Given the description of an element on the screen output the (x, y) to click on. 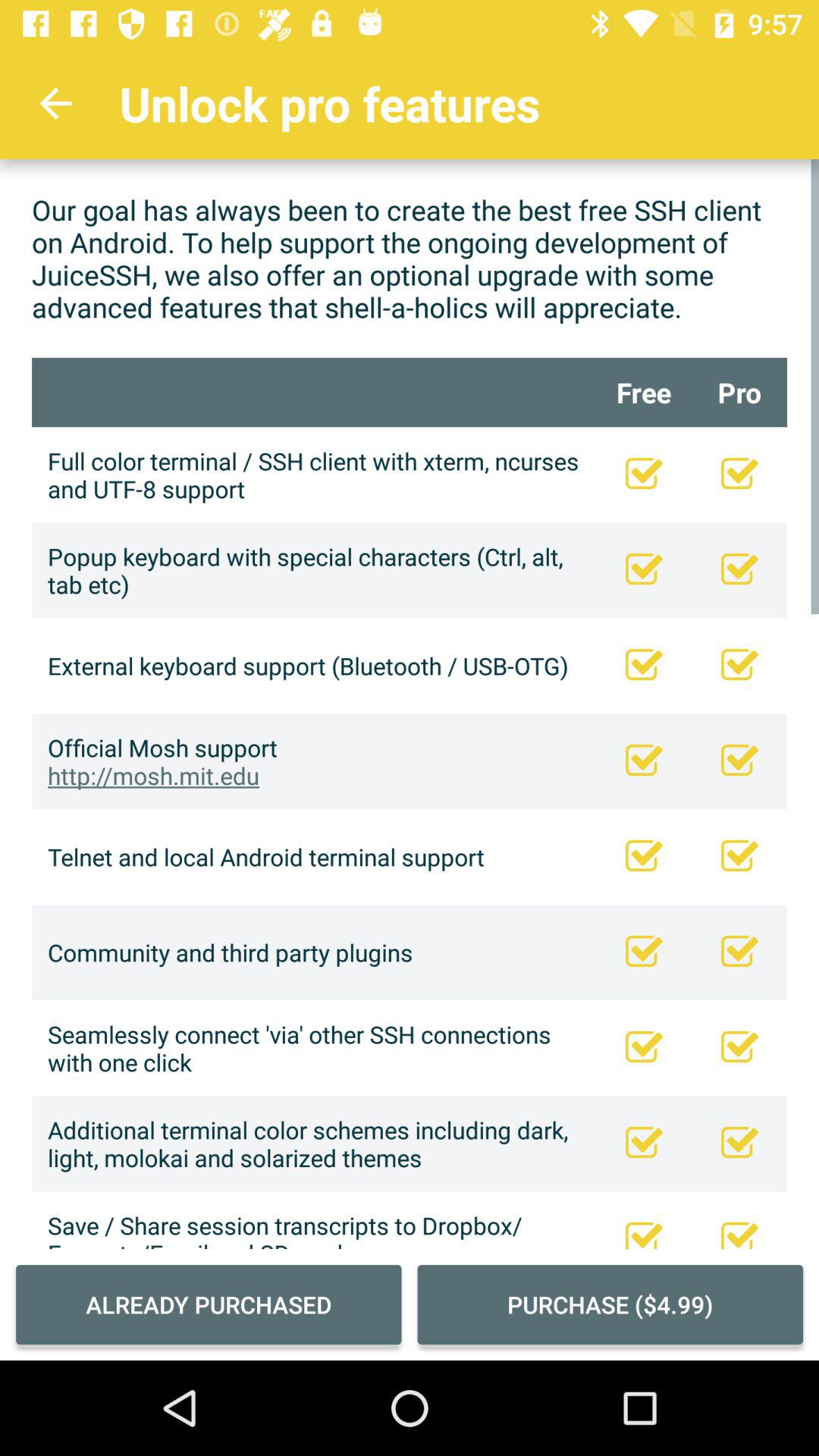
select already purchased (208, 1304)
